Given the description of an element on the screen output the (x, y) to click on. 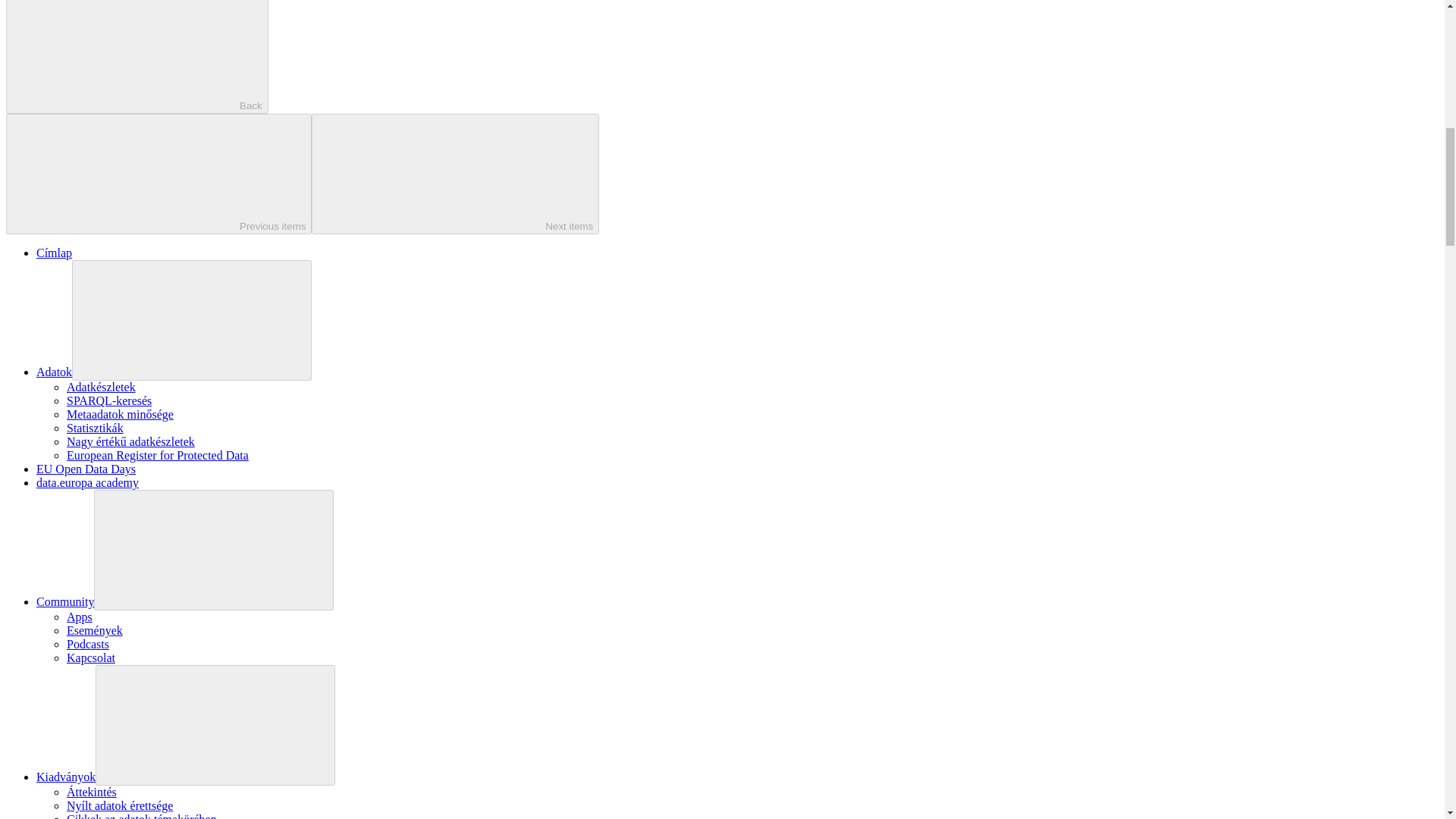
Previous items (158, 173)
Adatok (53, 371)
EU Open Data Days (85, 468)
Kapcsolat (90, 657)
Back (136, 56)
Community (65, 601)
European Register for Protected Data (157, 454)
Podcasts (87, 644)
Next items (454, 173)
data.europa academy (87, 481)
Apps (79, 616)
